Given the description of an element on the screen output the (x, y) to click on. 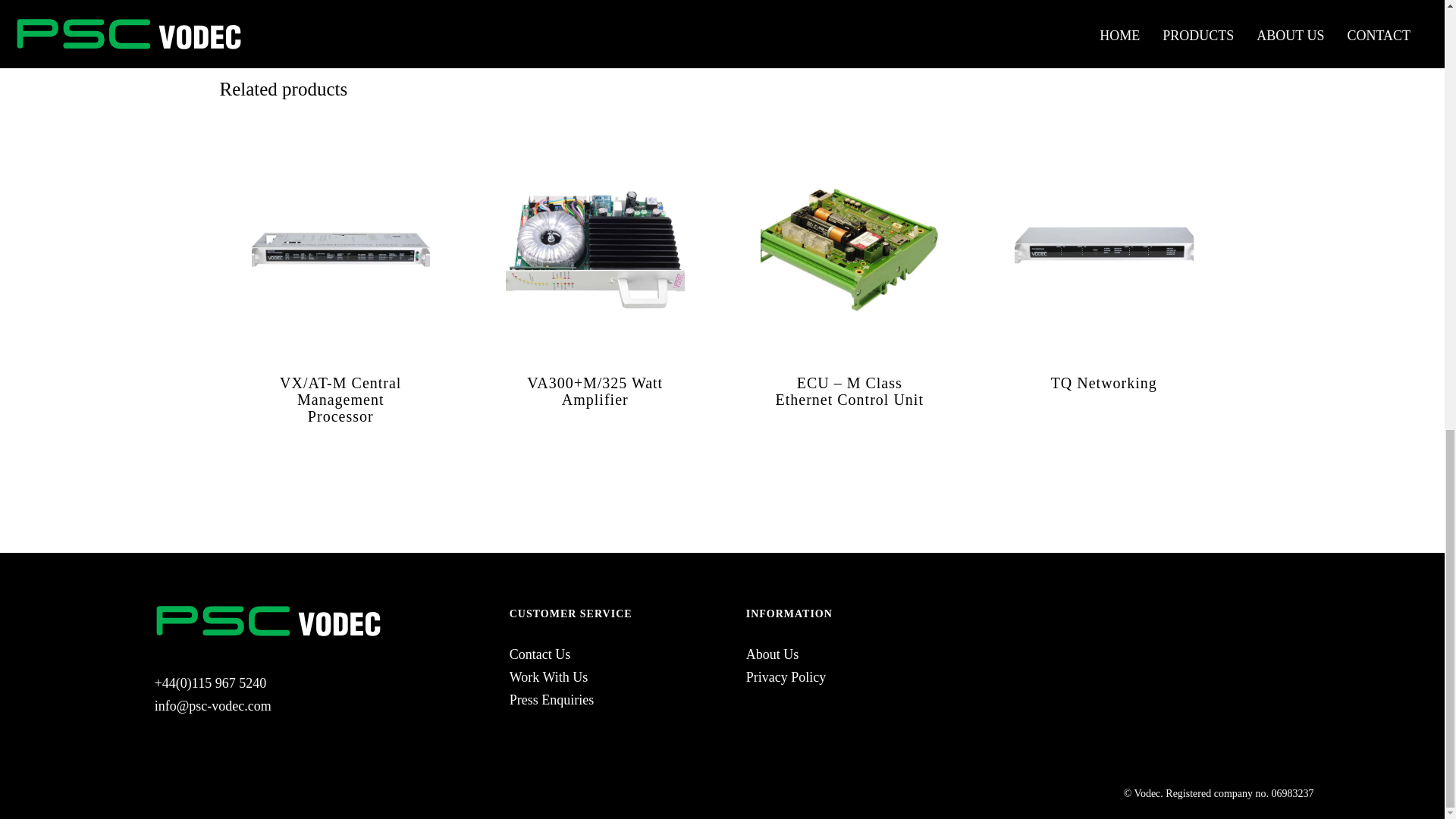
TQ Networking (1104, 382)
